Given the description of an element on the screen output the (x, y) to click on. 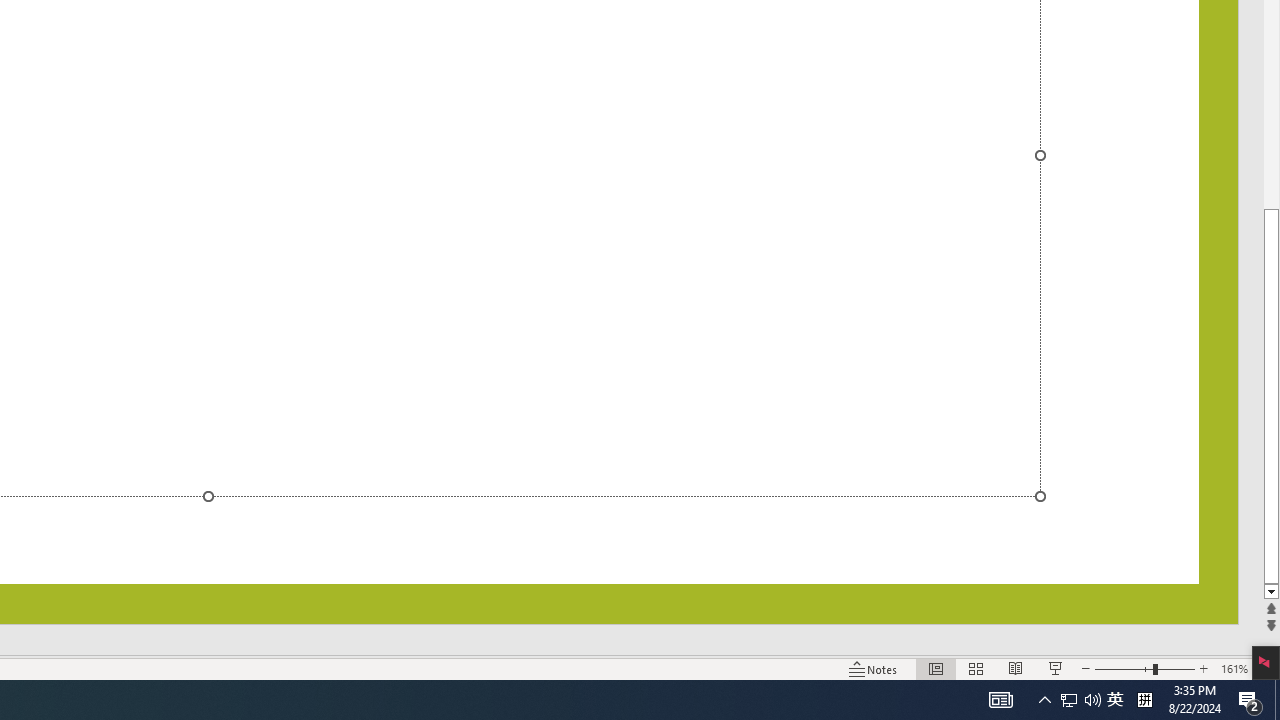
Zoom 161% (1234, 668)
